Given the description of an element on the screen output the (x, y) to click on. 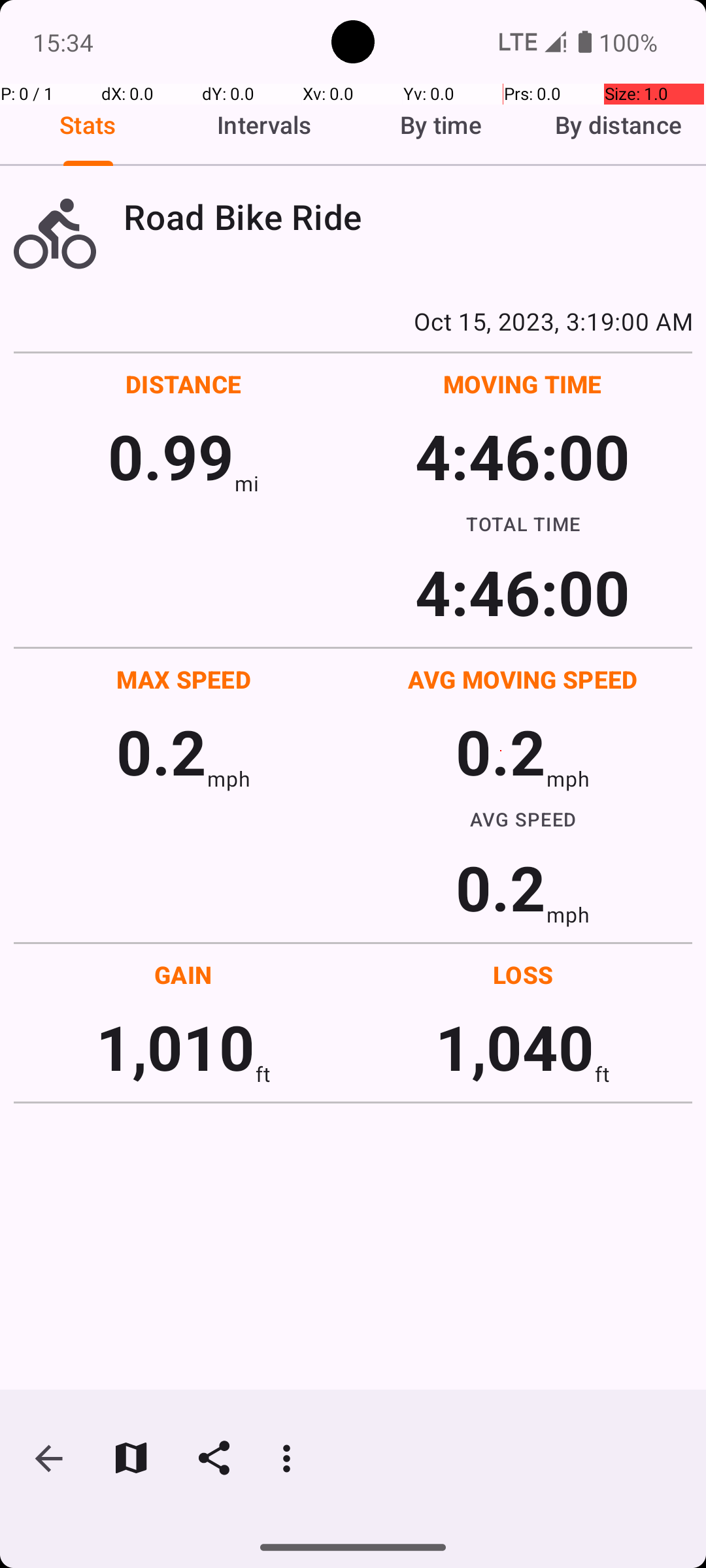
Road Bike Ride Element type: android.widget.TextView (407, 216)
Oct 15, 2023, 3:19:00 AM Element type: android.widget.TextView (352, 320)
0.99 Element type: android.widget.TextView (170, 455)
4:46:00 Element type: android.widget.TextView (522, 455)
0.2 Element type: android.widget.TextView (161, 750)
1,010 Element type: android.widget.TextView (175, 1045)
1,040 Element type: android.widget.TextView (514, 1045)
